Given the description of an element on the screen output the (x, y) to click on. 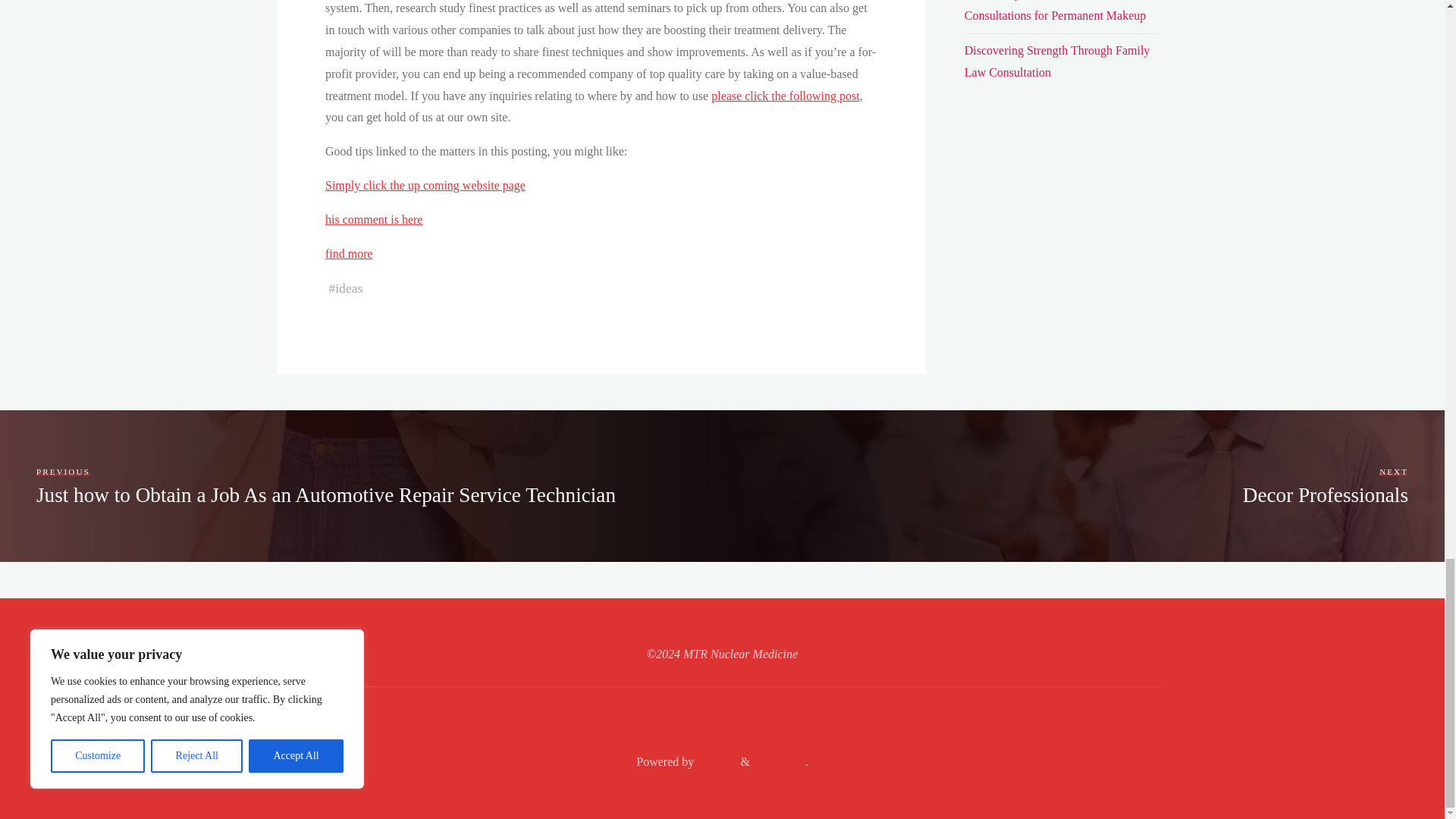
Bravada WordPress Theme by Cryout Creations (715, 761)
please click the following post (785, 95)
Simply click the up coming website page (424, 185)
Semantic Personal Publishing Platform (778, 761)
his comment is here (373, 219)
find more (348, 253)
ideas (348, 287)
